Given the description of an element on the screen output the (x, y) to click on. 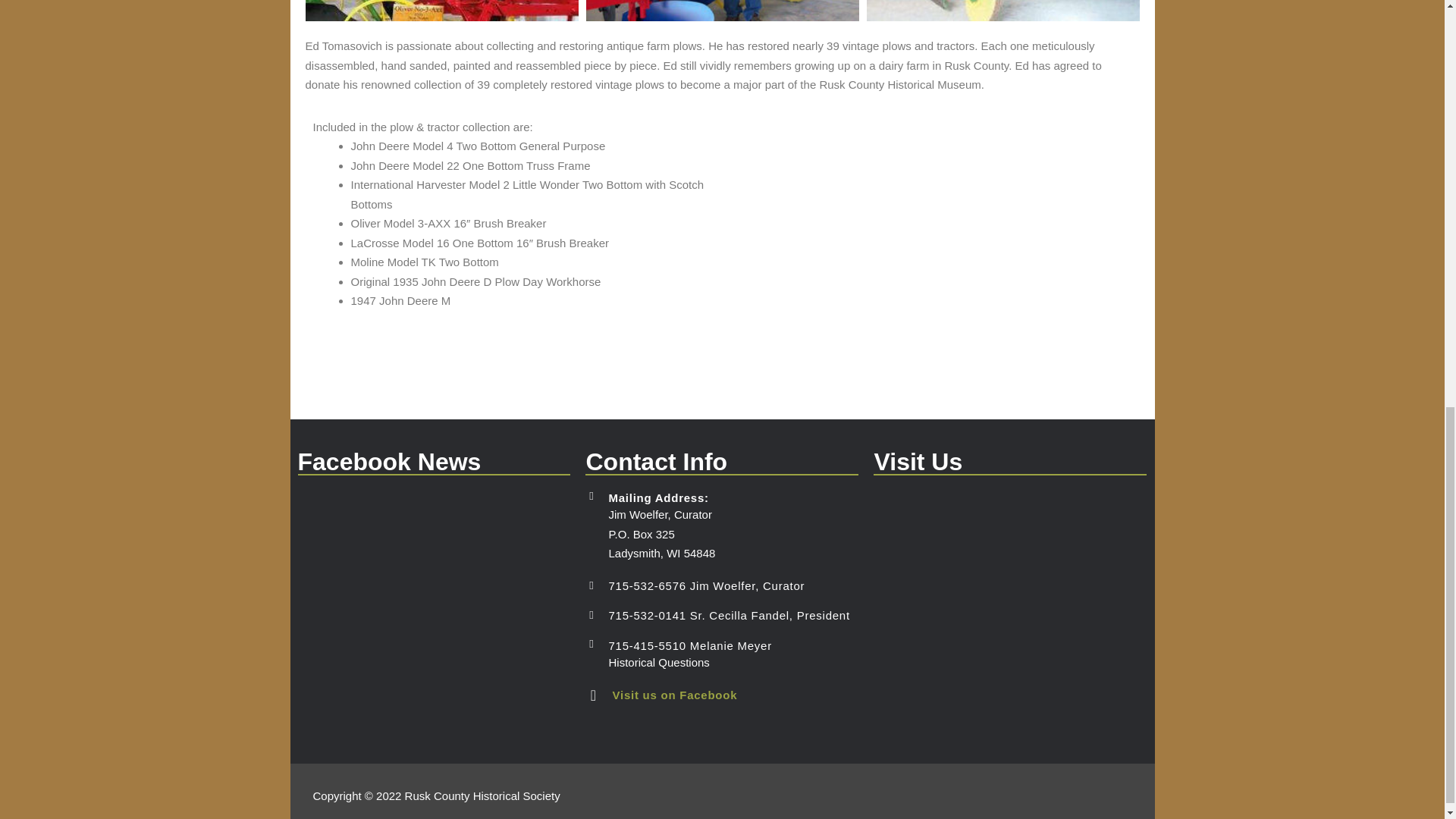
828 E. 3rd St. N., Ladysmith, WI 54848 (1010, 604)
Visit us on Facebook (673, 694)
